Given the description of an element on the screen output the (x, y) to click on. 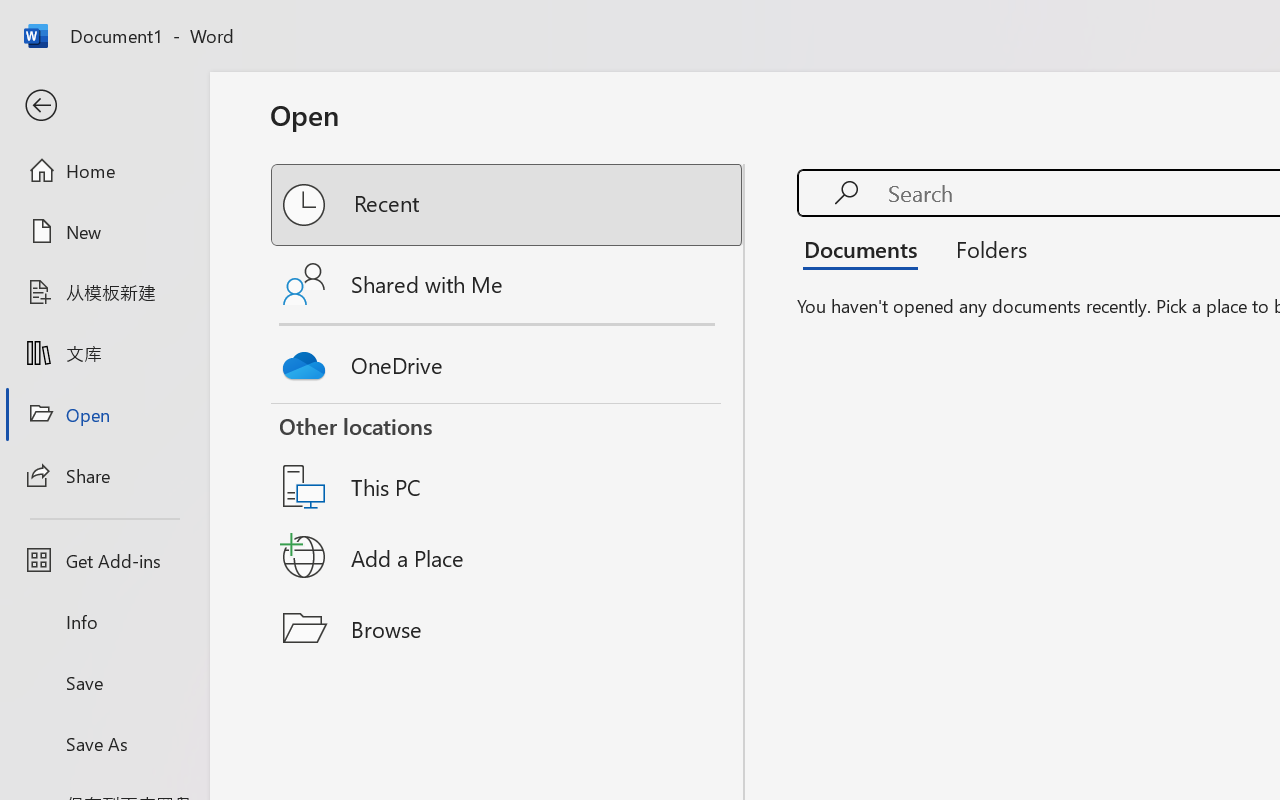
Get Add-ins (104, 560)
Folders (984, 248)
OneDrive (507, 359)
Add a Place (507, 557)
New (104, 231)
Back (104, 106)
Info (104, 621)
Browse (507, 627)
